Given the description of an element on the screen output the (x, y) to click on. 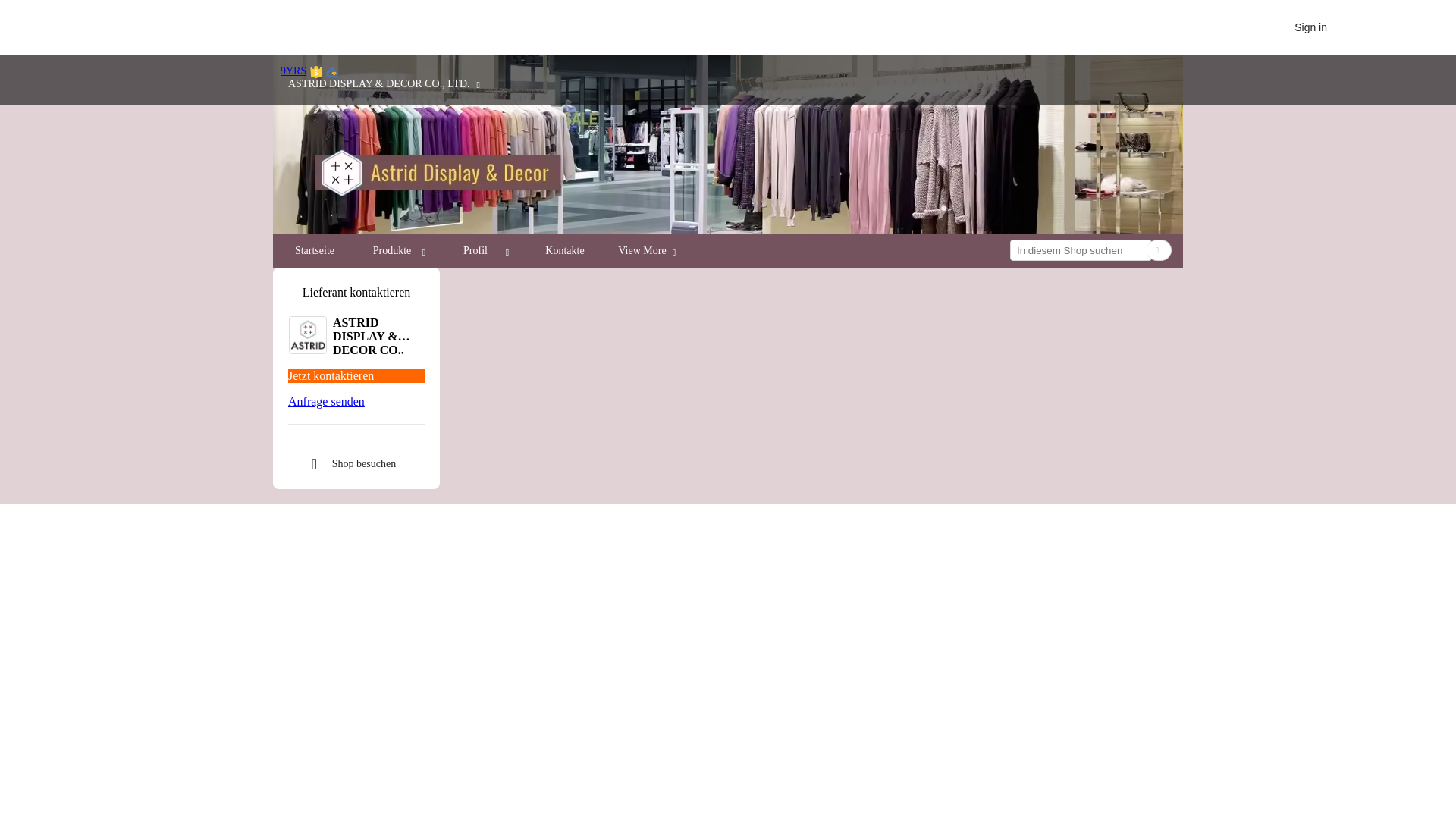
Profil (475, 250)
Kontakte (564, 250)
Produkte (392, 250)
Send inquiry (355, 401)
Profil (480, 250)
View More (648, 250)
9YRS (293, 70)
Jetzt kontaktieren (356, 376)
View More (641, 250)
Kontakte (564, 250)
Startseite (314, 250)
Anfrage senden (355, 401)
Startseite (314, 250)
Produkte (397, 250)
Jetzt kontaktieren (356, 376)
